Given the description of an element on the screen output the (x, y) to click on. 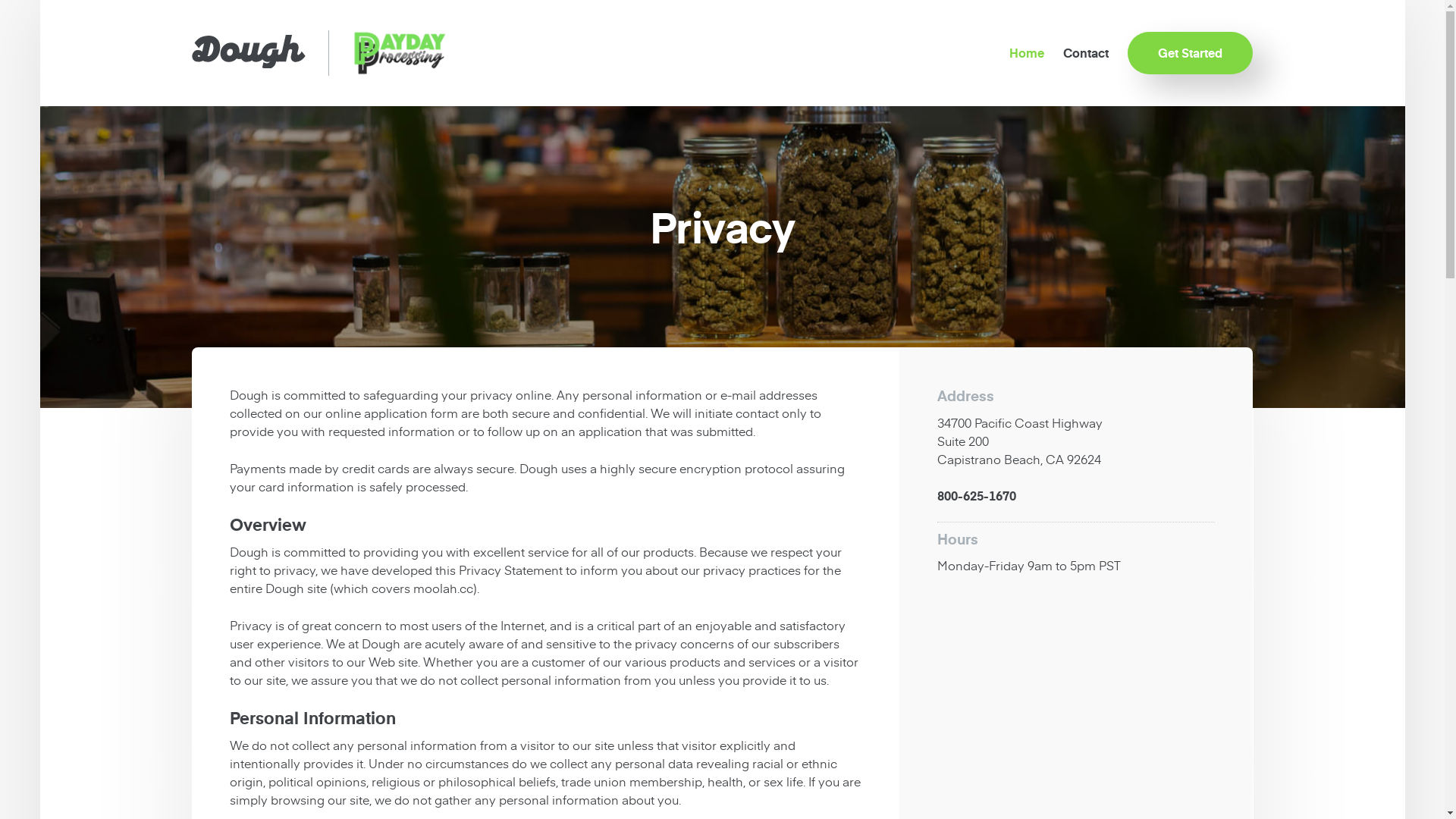
Get Started Element type: text (1189, 52)
Contact Element type: text (1076, 52)
Home Element type: text (1017, 52)
